Given the description of an element on the screen output the (x, y) to click on. 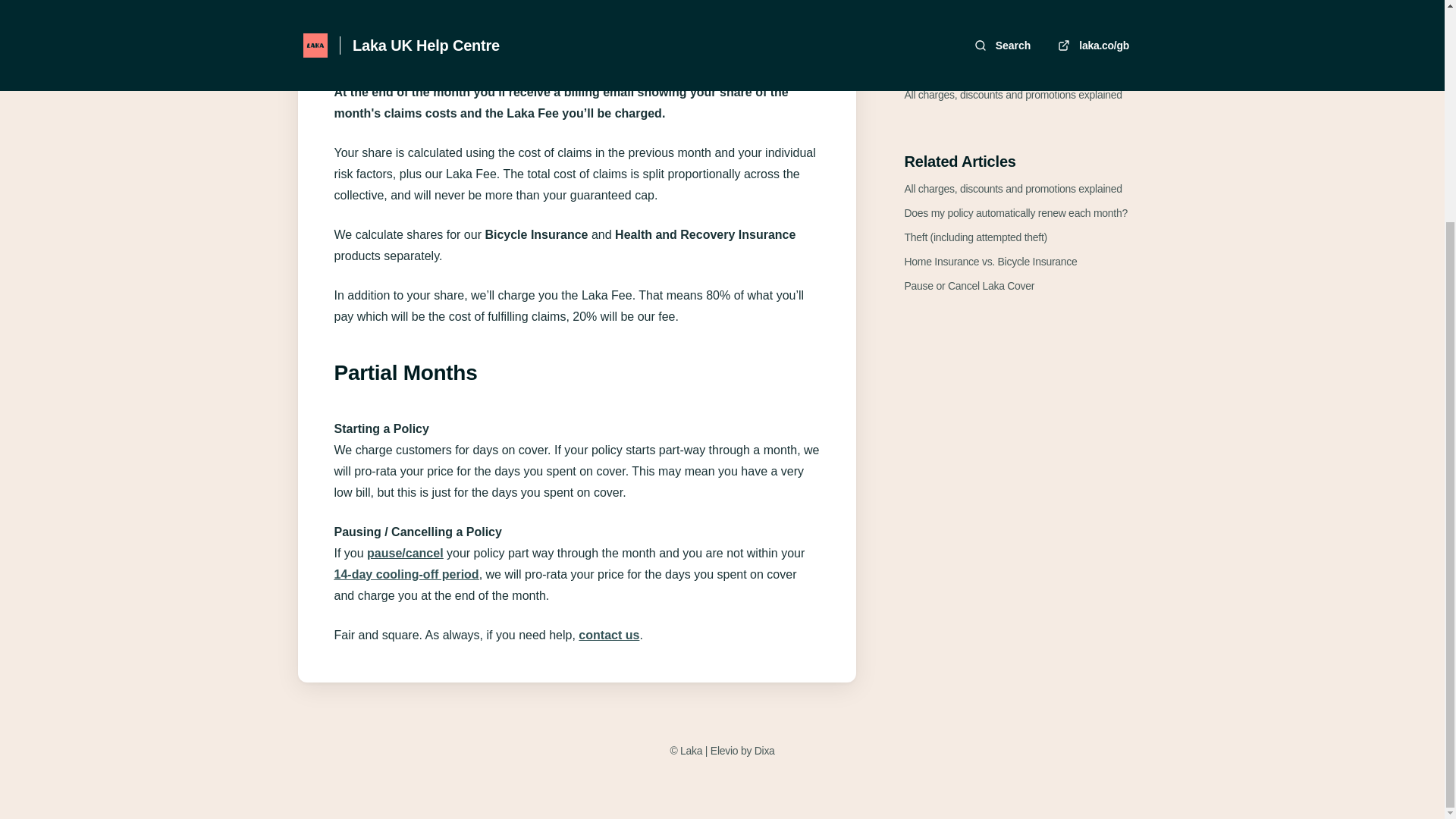
Home Insurance vs. Bicycle Insurance (990, 261)
contact us (608, 635)
14-day cooling-off period (406, 574)
What is the Laka Collective? (968, 21)
All charges, discounts and promotions explained (1012, 188)
All charges, discounts and promotions explained (1012, 94)
How do you calculate my quote? (977, 2)
Does my policy automatically renew each month? (1015, 212)
Pause or Cancel Laka Cover (968, 285)
Dixa (764, 750)
Payment Dates - When you will be charged (1001, 70)
What is the Laka Fee? (955, 46)
